Given the description of an element on the screen output the (x, y) to click on. 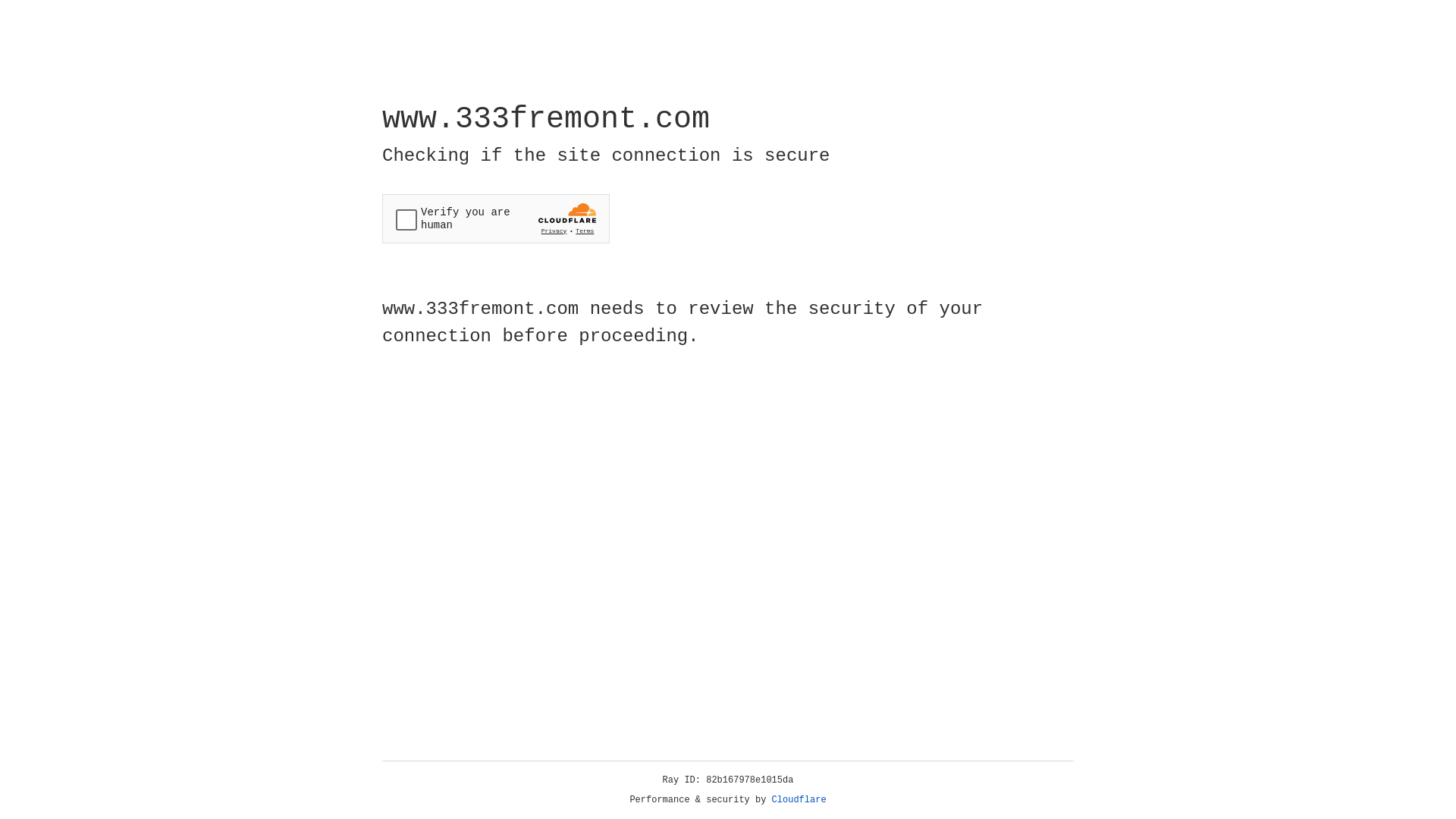
Widget containing a Cloudflare security challenge Element type: hover (495, 218)
Cloudflare Element type: text (798, 799)
